Given the description of an element on the screen output the (x, y) to click on. 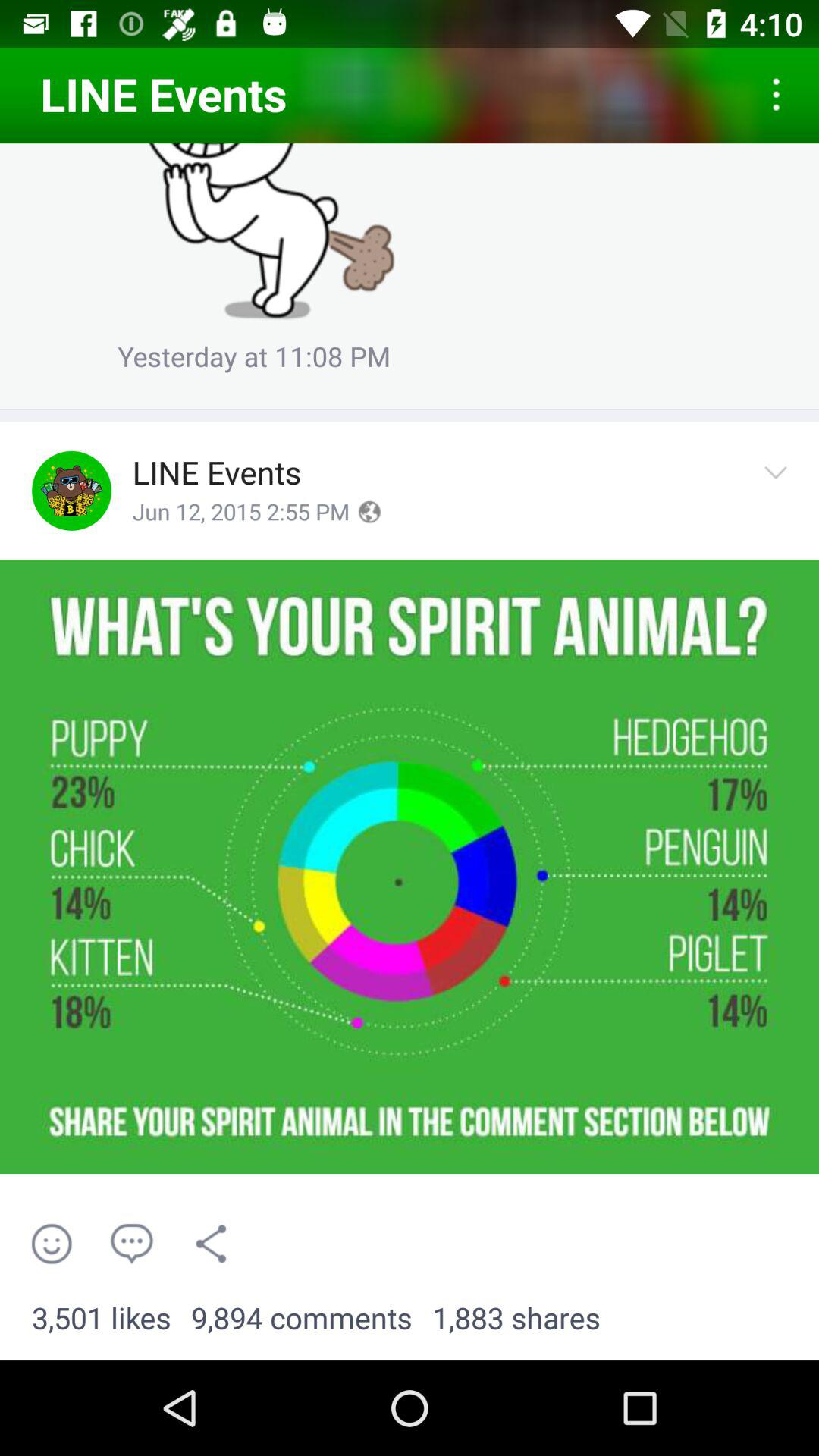
turn on the app next to the 9,894 comments item (516, 1318)
